Given the description of an element on the screen output the (x, y) to click on. 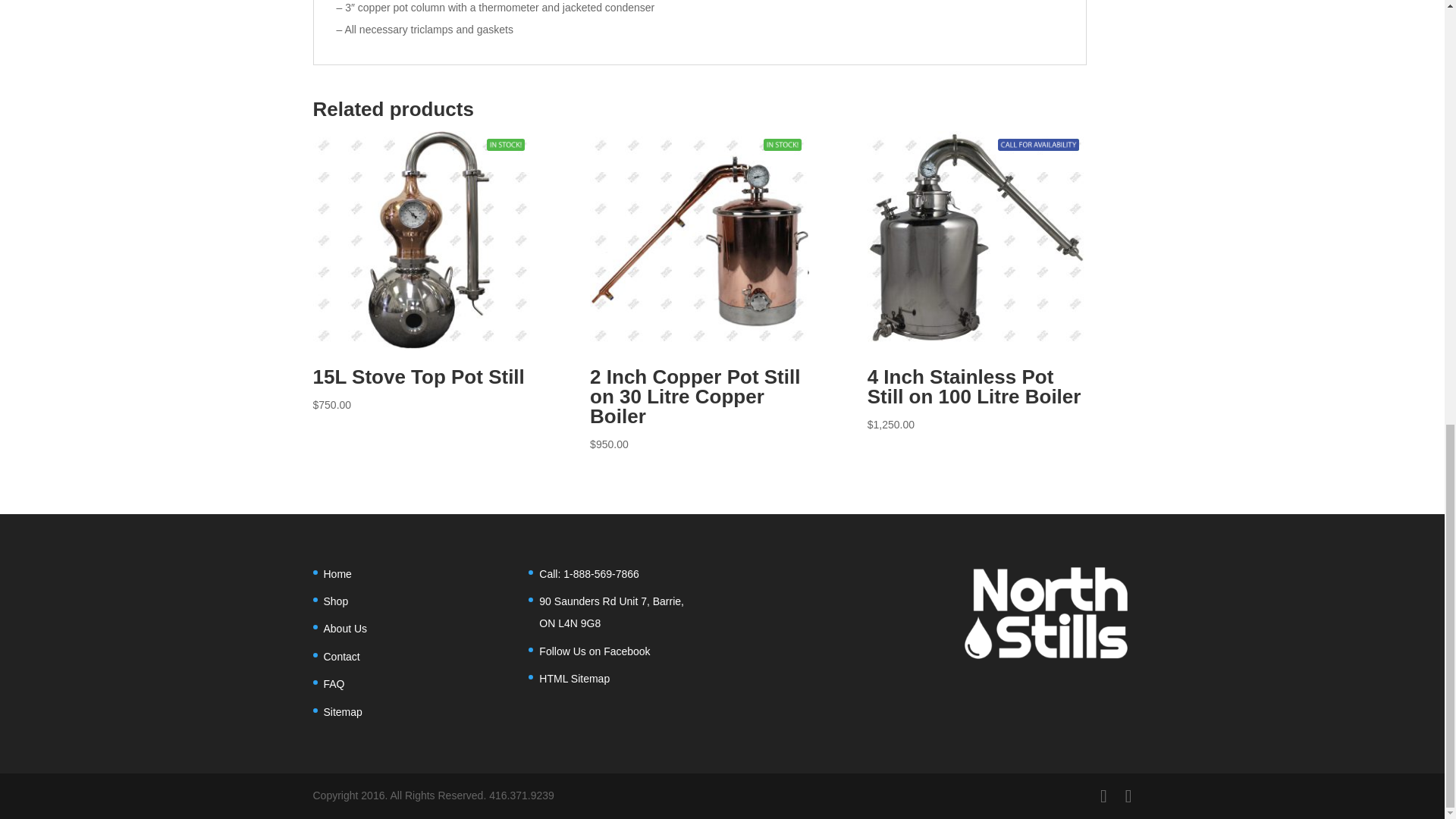
Home (336, 573)
Shop (335, 601)
